Given the description of an element on the screen output the (x, y) to click on. 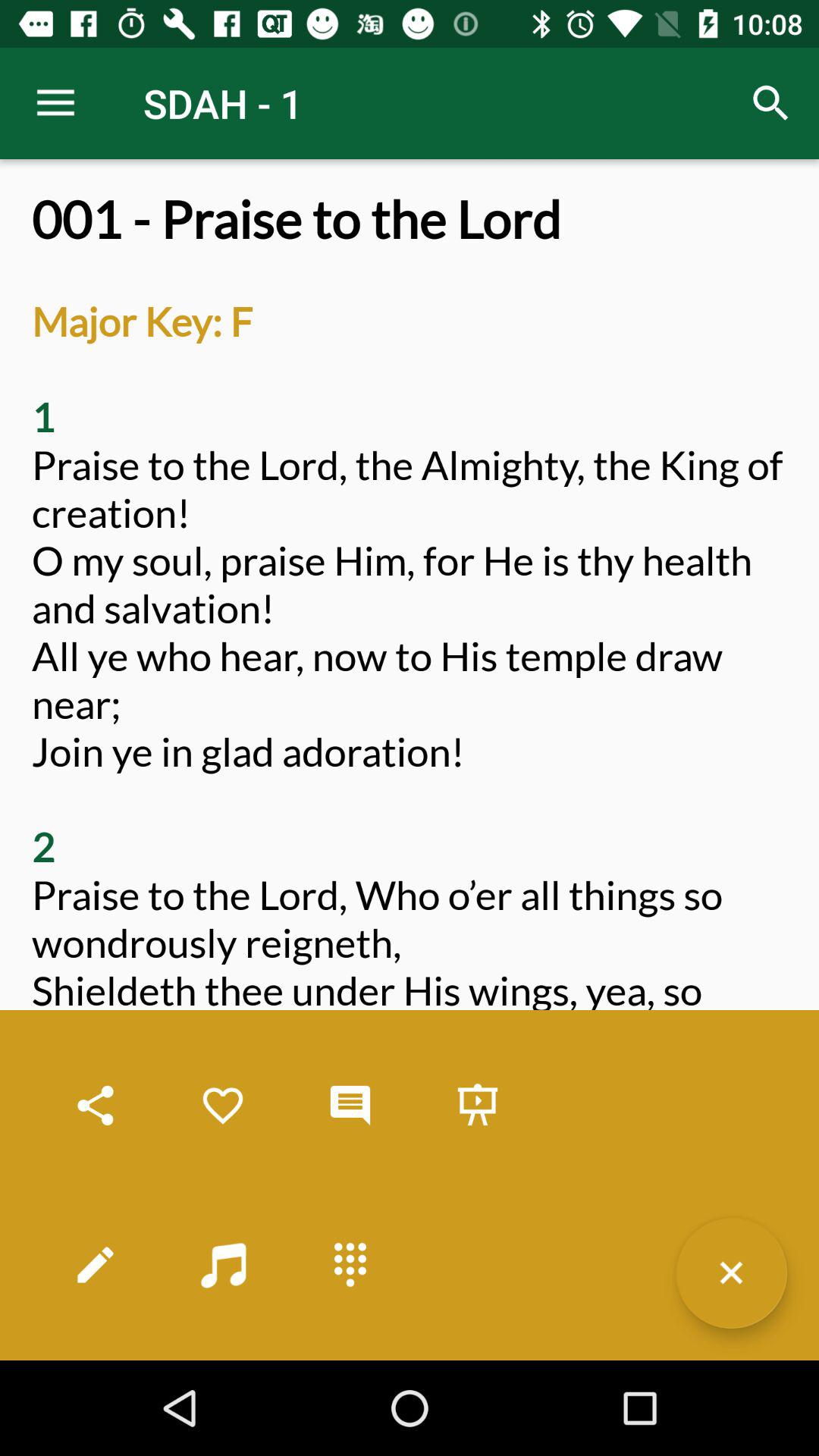
share this page (95, 1105)
